Given the description of an element on the screen output the (x, y) to click on. 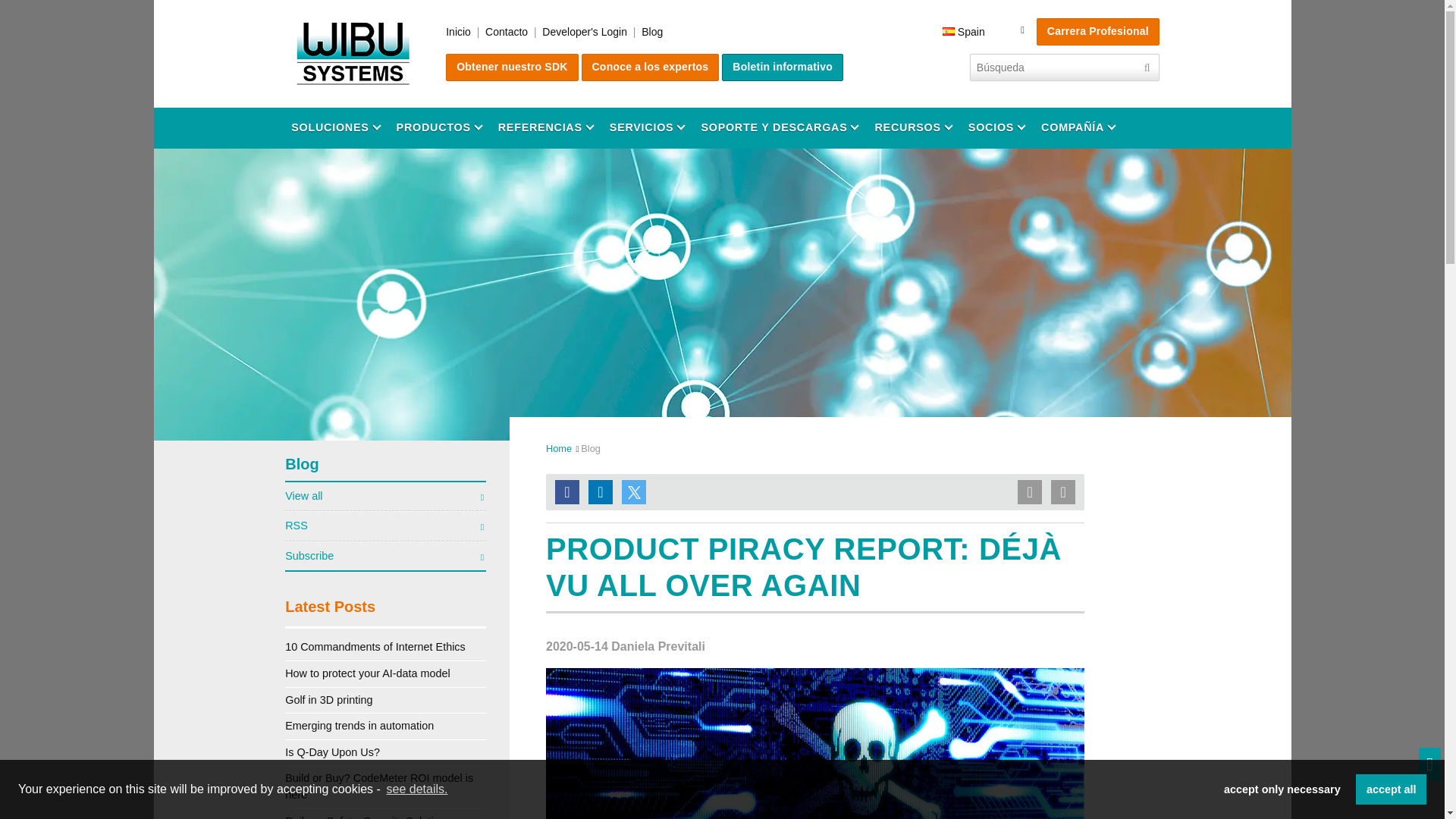
WIBU-SYSTEMS IBERIA (353, 53)
